Given the description of an element on the screen output the (x, y) to click on. 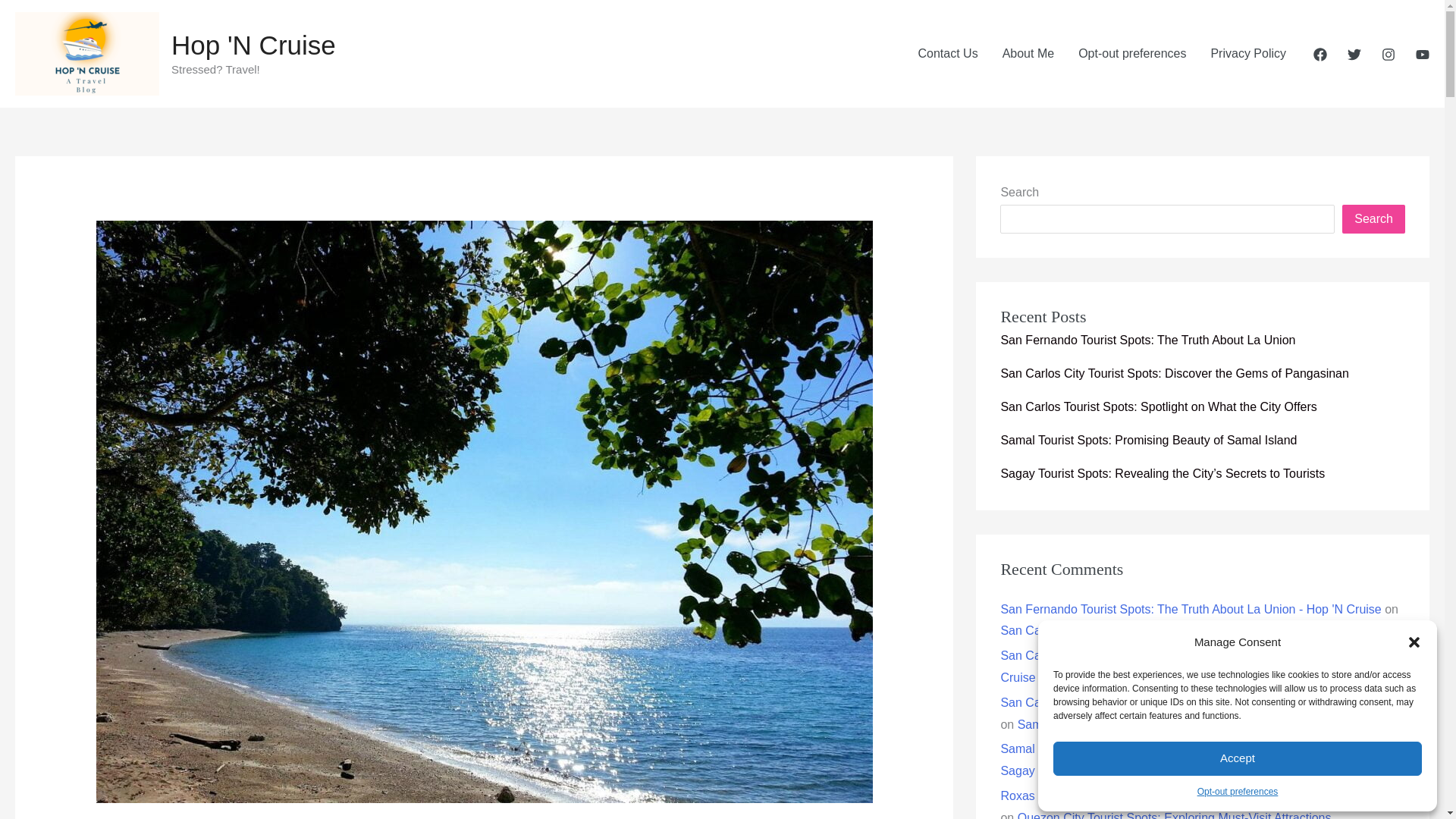
About Me (1027, 53)
Privacy Policy (1248, 53)
Contact Us (947, 53)
Accept (1237, 758)
Opt-out preferences (1237, 791)
Hop 'N Cruise (253, 44)
Opt-out preferences (1131, 53)
